Given the description of an element on the screen output the (x, y) to click on. 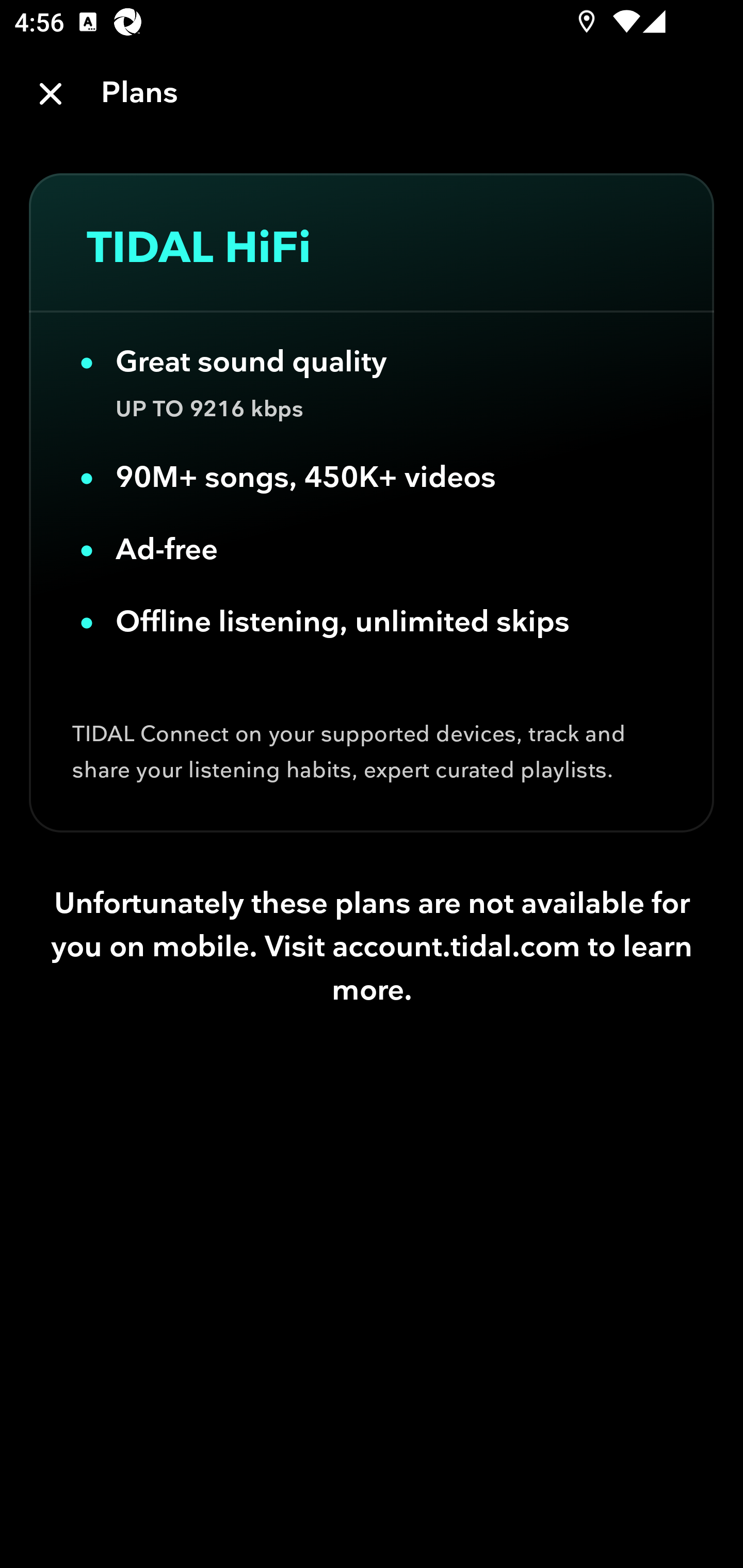
Close (50, 93)
